Given the description of an element on the screen output the (x, y) to click on. 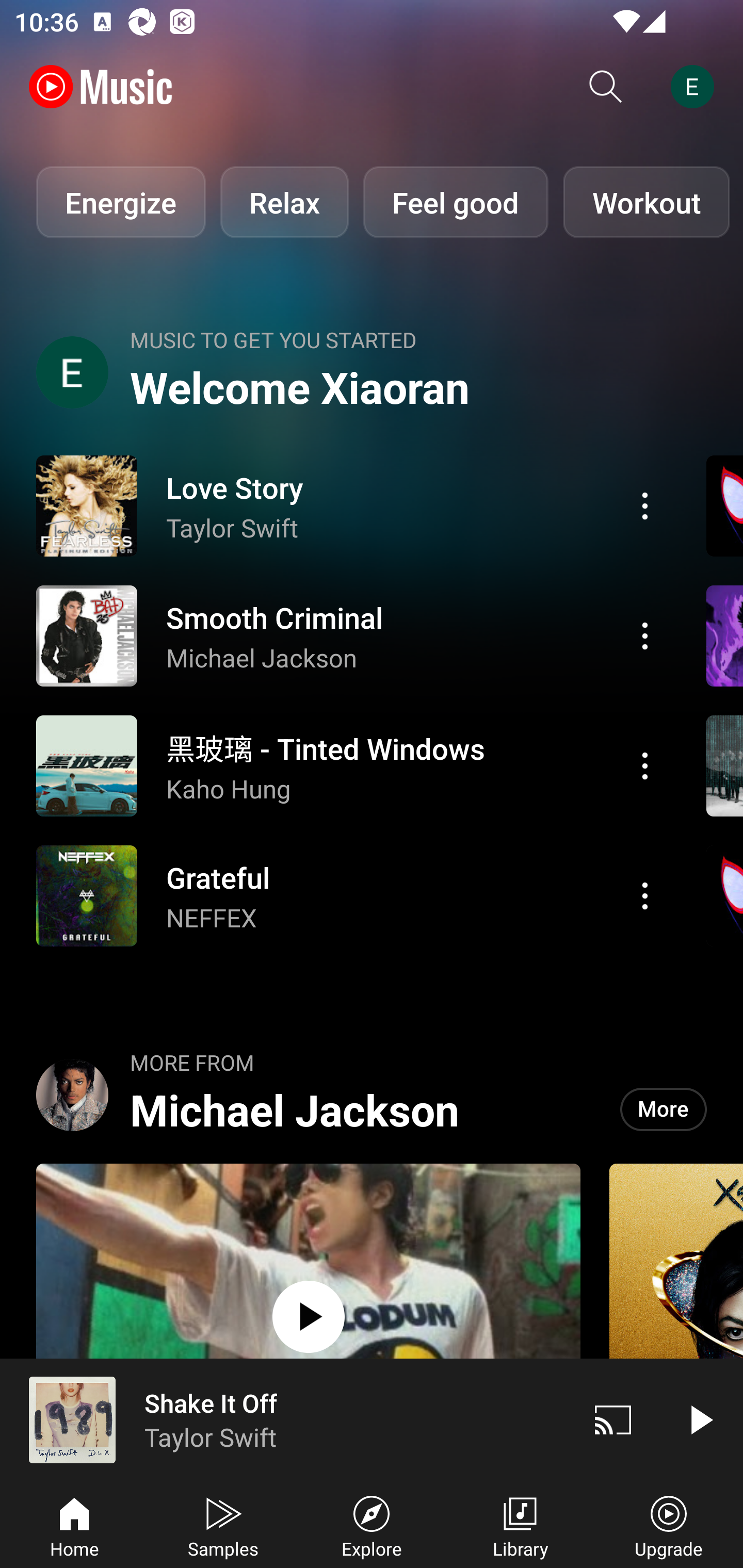
Search (605, 86)
Account (696, 86)
Action menu (349, 505)
Action menu (644, 505)
Action menu (349, 635)
Action menu (644, 635)
Action menu (349, 765)
Action menu (644, 765)
Action menu (349, 896)
Action menu (644, 896)
Shake It Off Taylor Swift (284, 1419)
Cast. Disconnected (612, 1419)
Play video (699, 1419)
Home (74, 1524)
Samples (222, 1524)
Explore (371, 1524)
Library (519, 1524)
Upgrade (668, 1524)
